Given the description of an element on the screen output the (x, y) to click on. 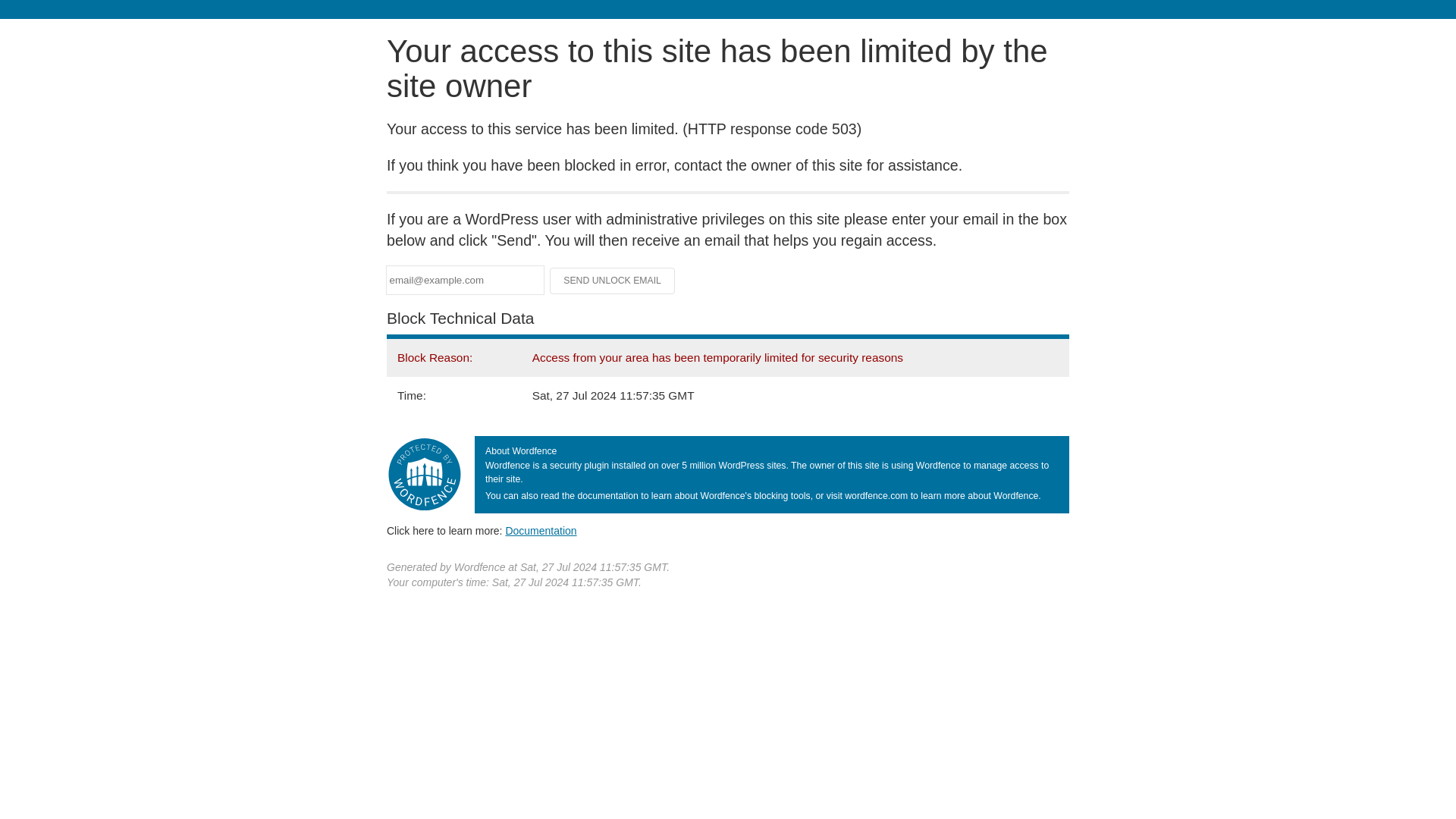
Send Unlock Email (612, 280)
Send Unlock Email (612, 280)
